Given the description of an element on the screen output the (x, y) to click on. 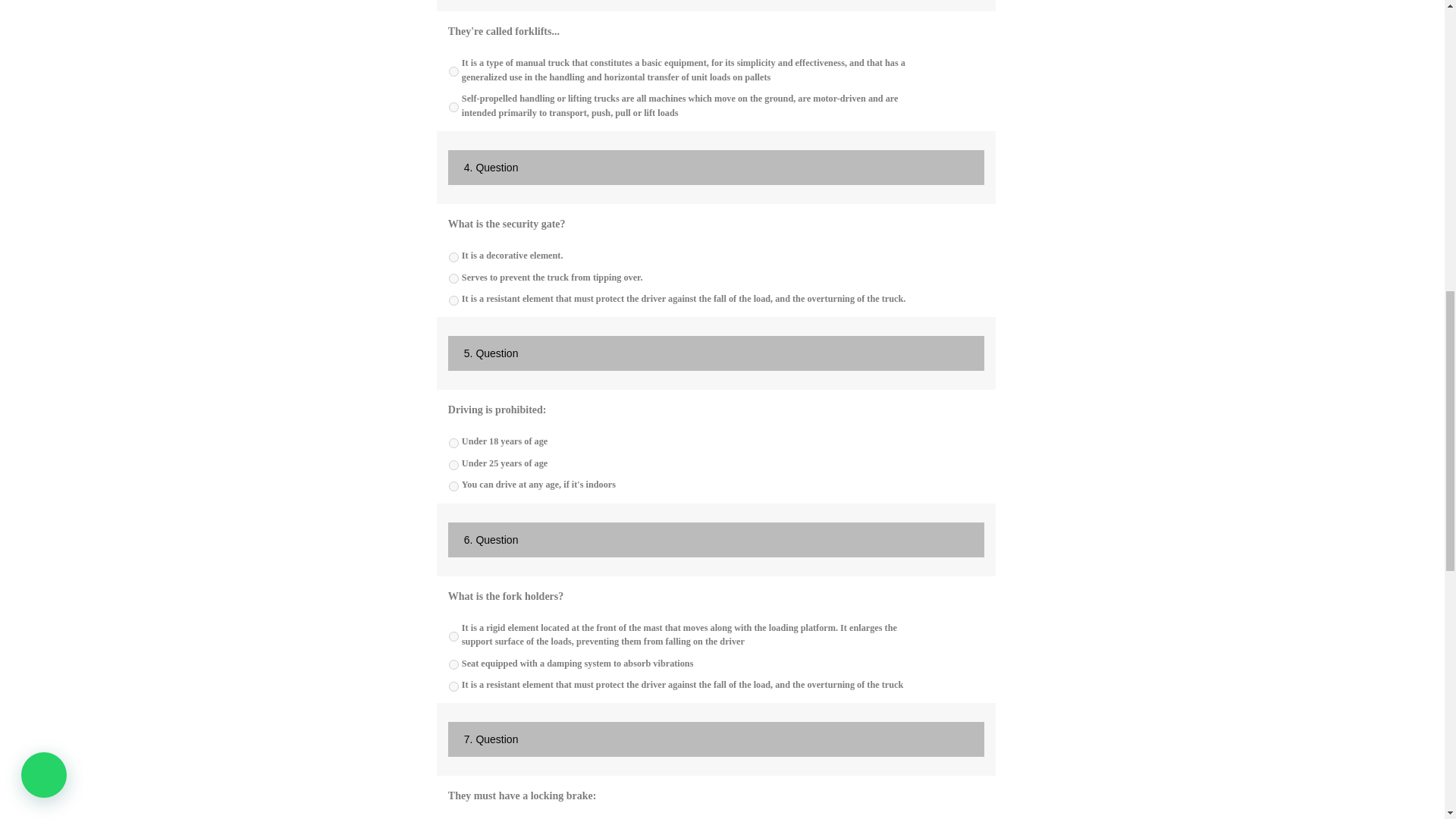
gquiz1b055fe72 (453, 71)
gquiz21f5bd588d (453, 442)
5. Question (716, 353)
gquiz21ef2472b0 (453, 464)
4. Question (716, 167)
6. Question (716, 539)
gquiz1b055fe72 (453, 278)
gquiz16f85d5fb (453, 300)
gquiz218f2eaeb0 (453, 664)
gquiz16f85d5fb (453, 107)
